Given the description of an element on the screen output the (x, y) to click on. 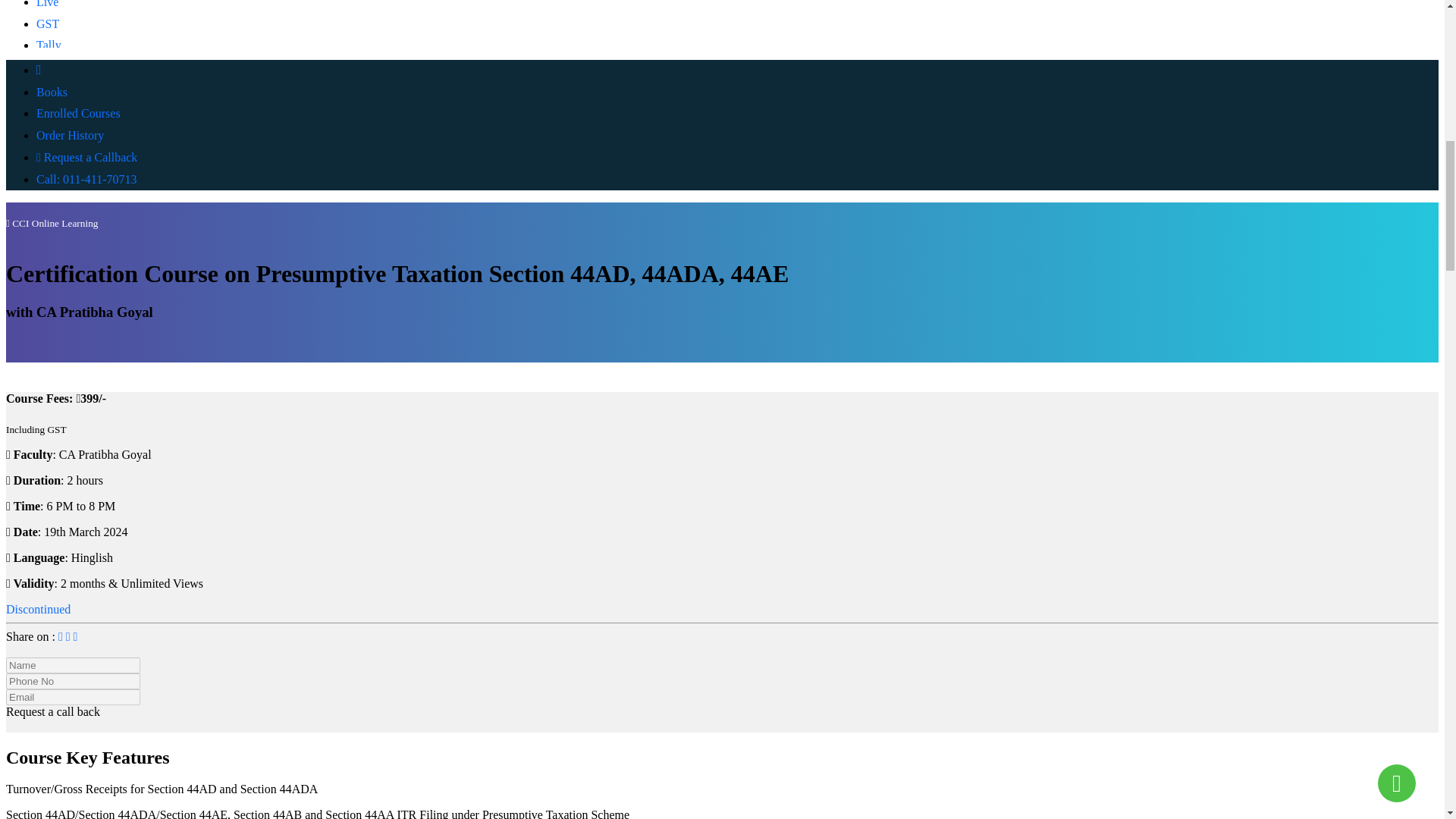
Home (39, 69)
twitter (69, 635)
Share (76, 635)
facebook (61, 635)
